Given the description of an element on the screen output the (x, y) to click on. 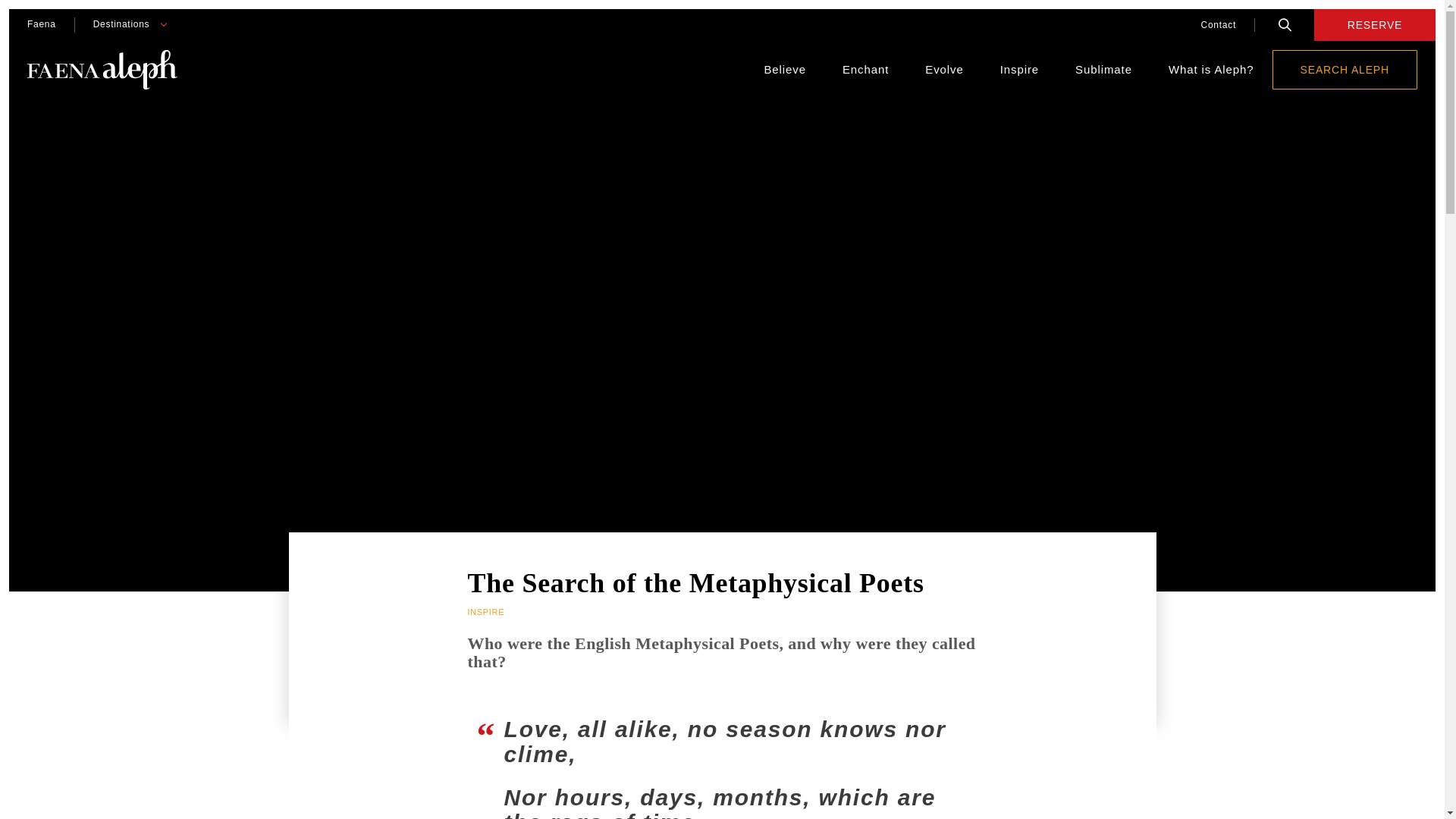
Faena (41, 23)
Search (1284, 24)
Believe (784, 69)
Enchant (865, 69)
SEARCH ALEPH (1344, 69)
Destinations (121, 23)
Sublimate (1103, 69)
Evolve (943, 69)
Inspire (1019, 69)
Contact (1217, 24)
What is Aleph? (1211, 69)
